Given the description of an element on the screen output the (x, y) to click on. 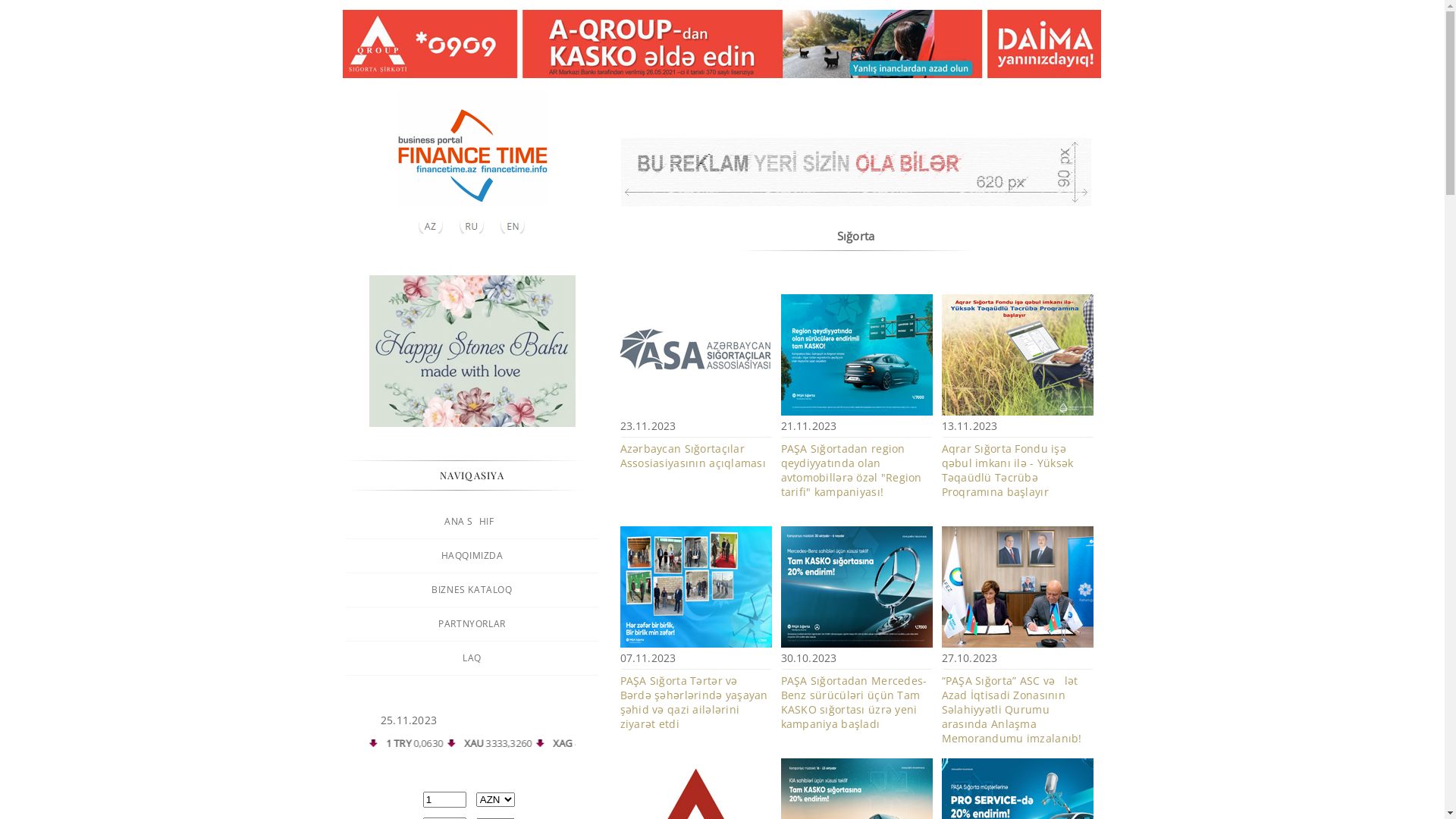
HAQQIMIZDA Element type: text (471, 555)
BIZNES KATALOQ Element type: text (471, 590)
PARTNYORLAR Element type: text (471, 623)
